Given the description of an element on the screen output the (x, y) to click on. 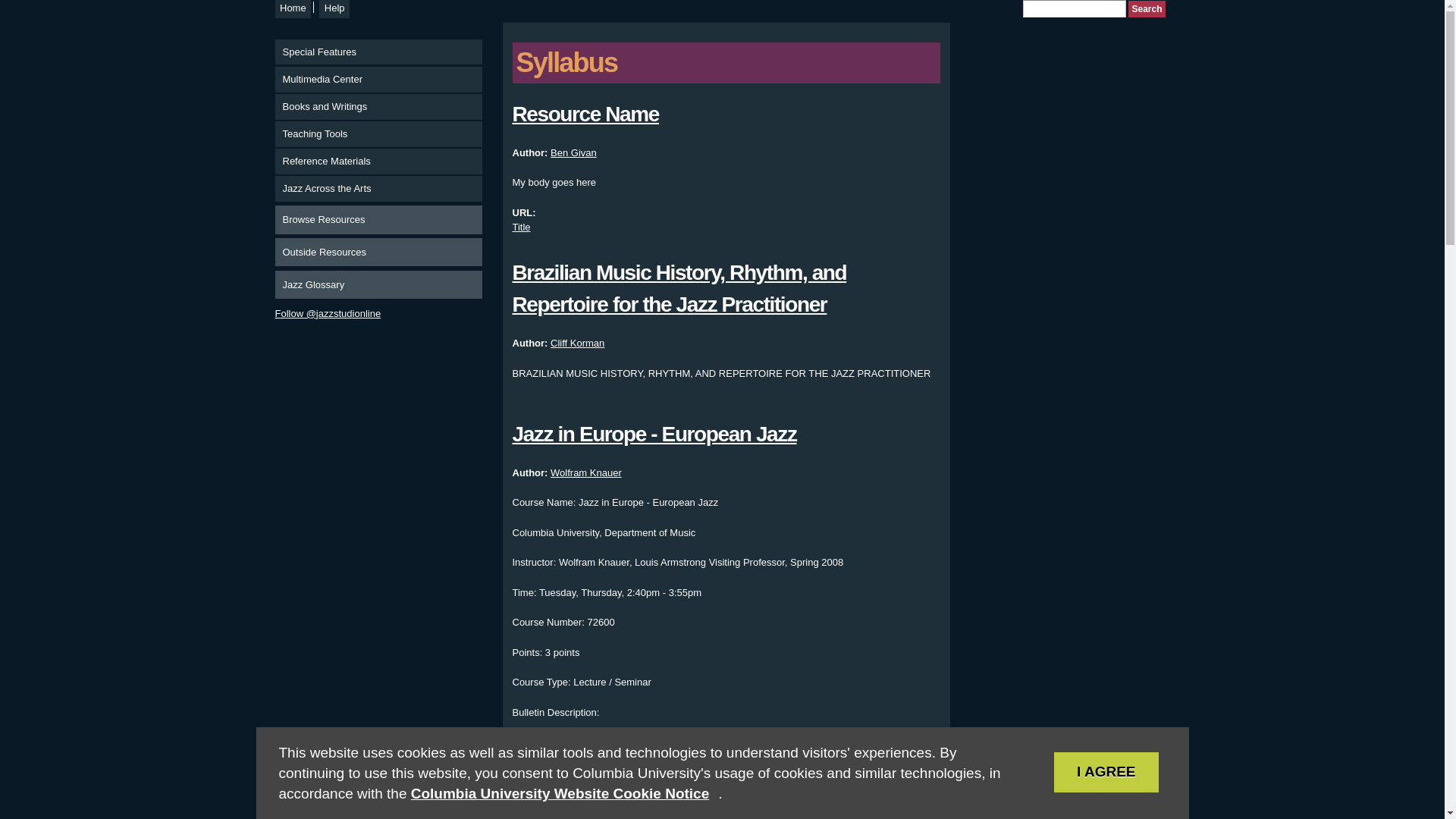
Enter the terms you wish to search for. (1074, 8)
Ben Givan (573, 152)
Reference Materials (378, 161)
Art of the Improvisers (611, 772)
Title (521, 226)
Home (293, 9)
Jazz Glossary (378, 285)
Search (1146, 8)
